Given the description of an element on the screen output the (x, y) to click on. 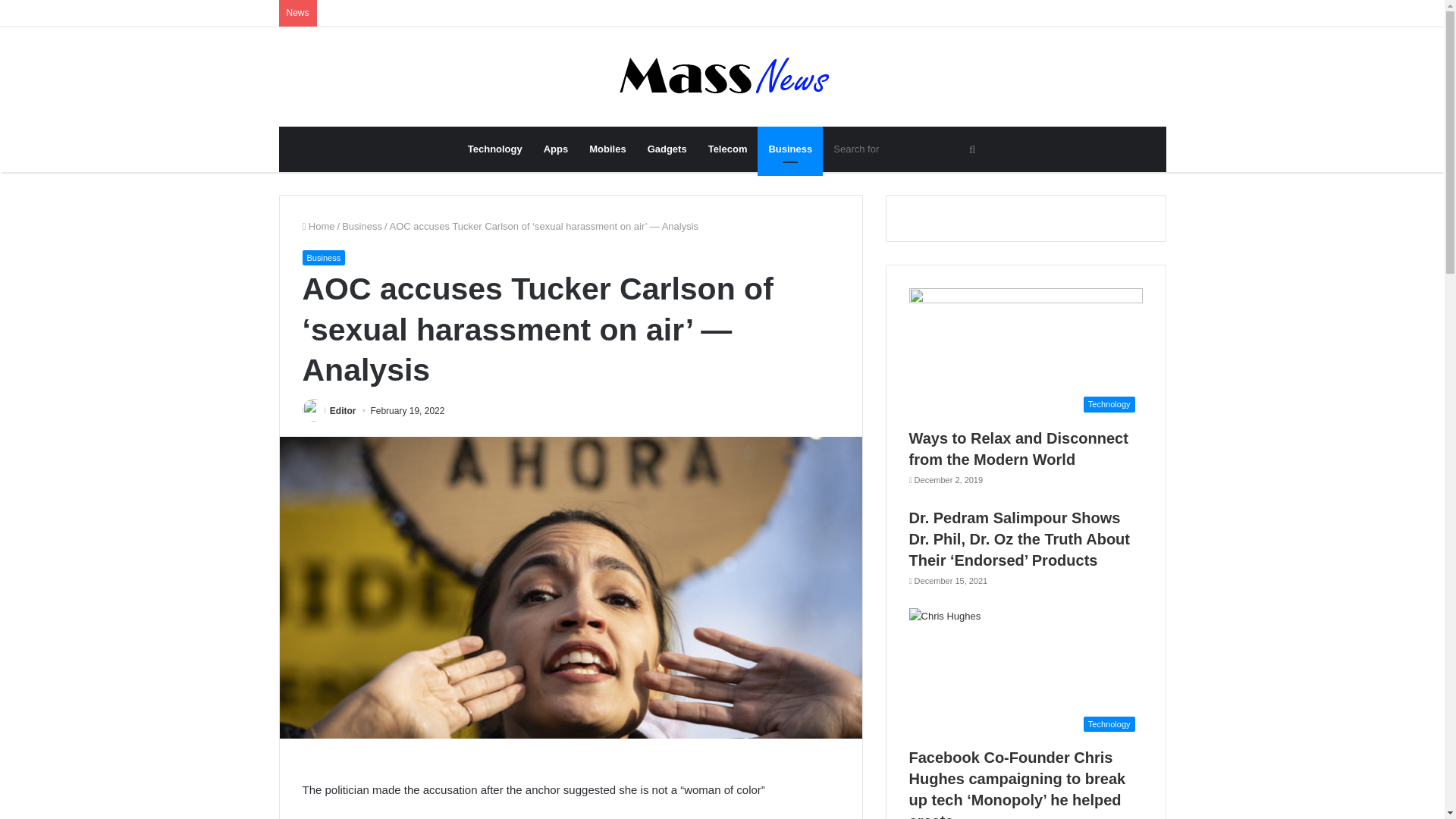
Editor (343, 410)
Search for (905, 148)
Business (361, 225)
Mobiles (607, 148)
Business (323, 257)
Gadgets (667, 148)
Business (789, 148)
Home (317, 225)
Editor (343, 410)
Apps (555, 148)
